Given the description of an element on the screen output the (x, y) to click on. 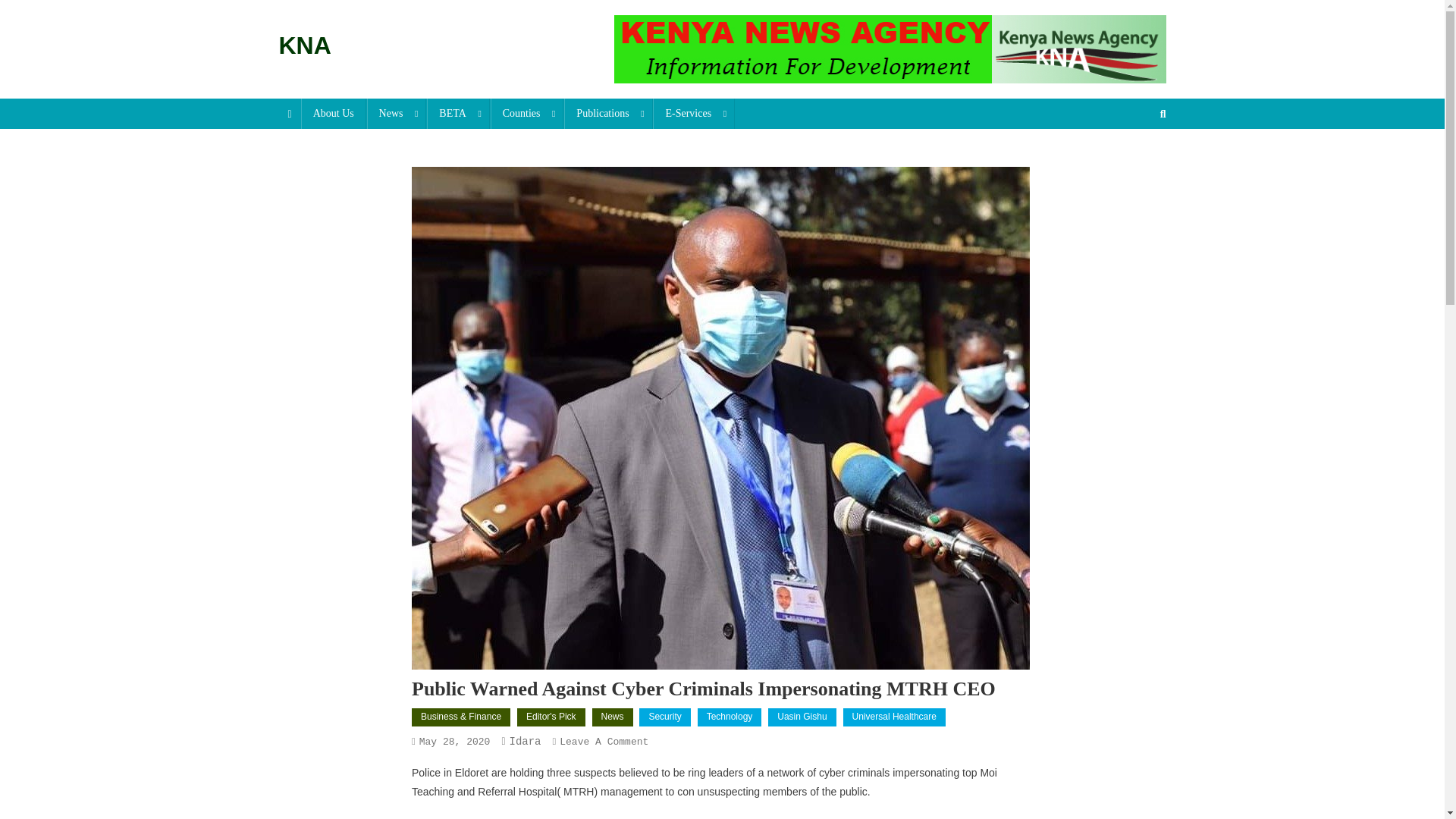
Counties (527, 113)
About Us (333, 113)
KNA (305, 44)
BETA (457, 113)
News (396, 113)
